Given the description of an element on the screen output the (x, y) to click on. 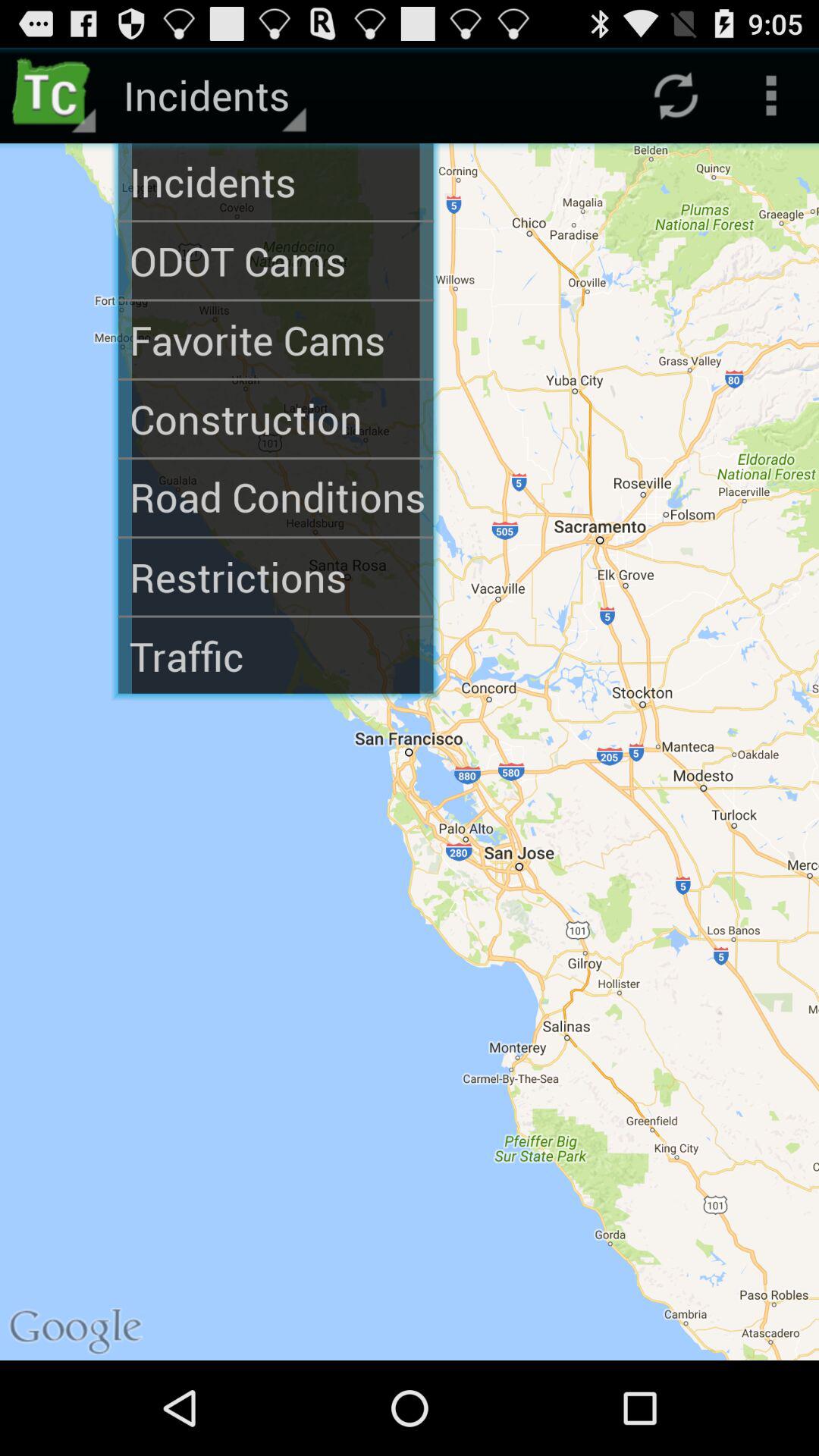
scroll until the construction app (275, 418)
